Given the description of an element on the screen output the (x, y) to click on. 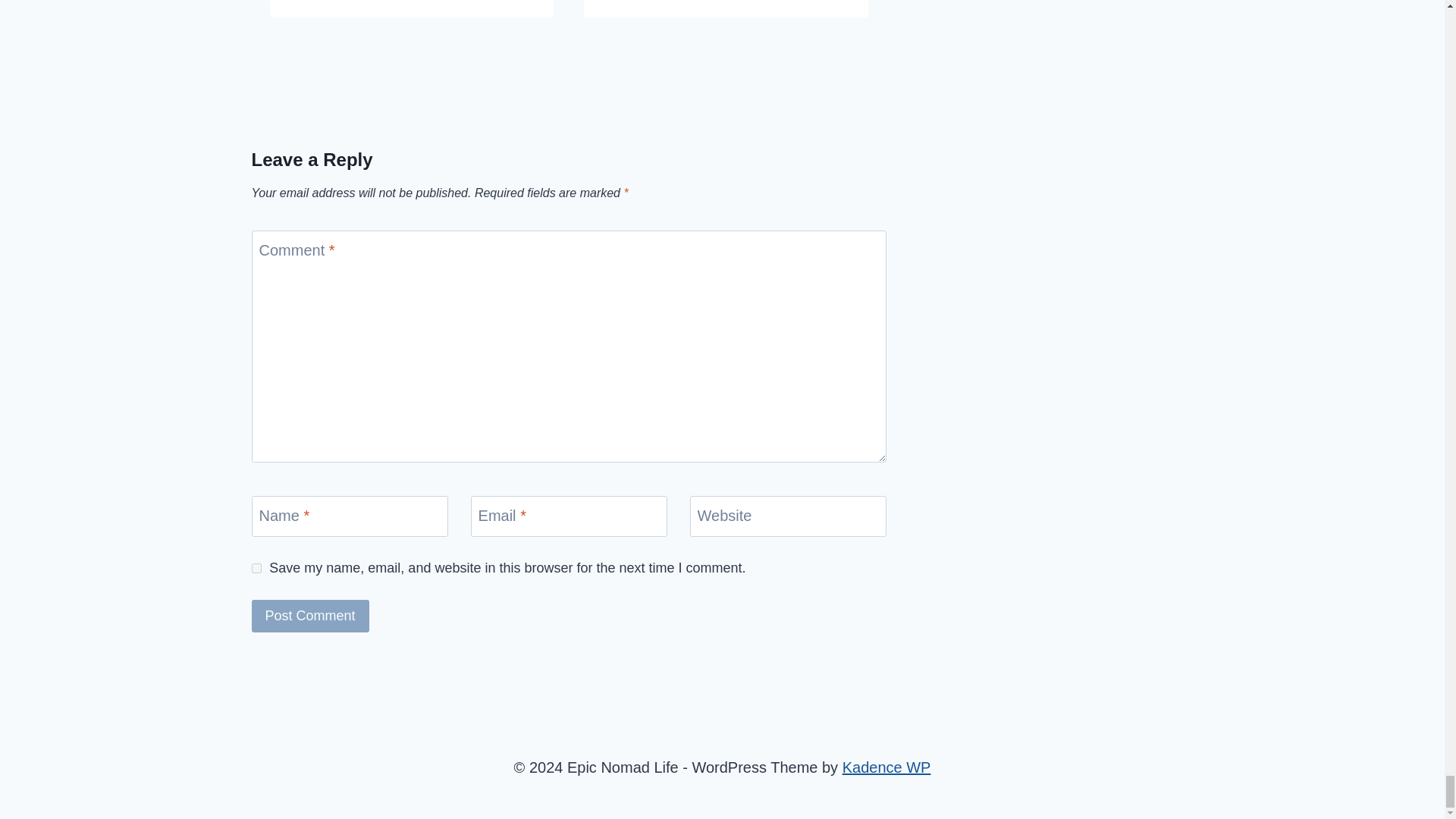
yes (256, 568)
Post Comment (310, 615)
